Given the description of an element on the screen output the (x, y) to click on. 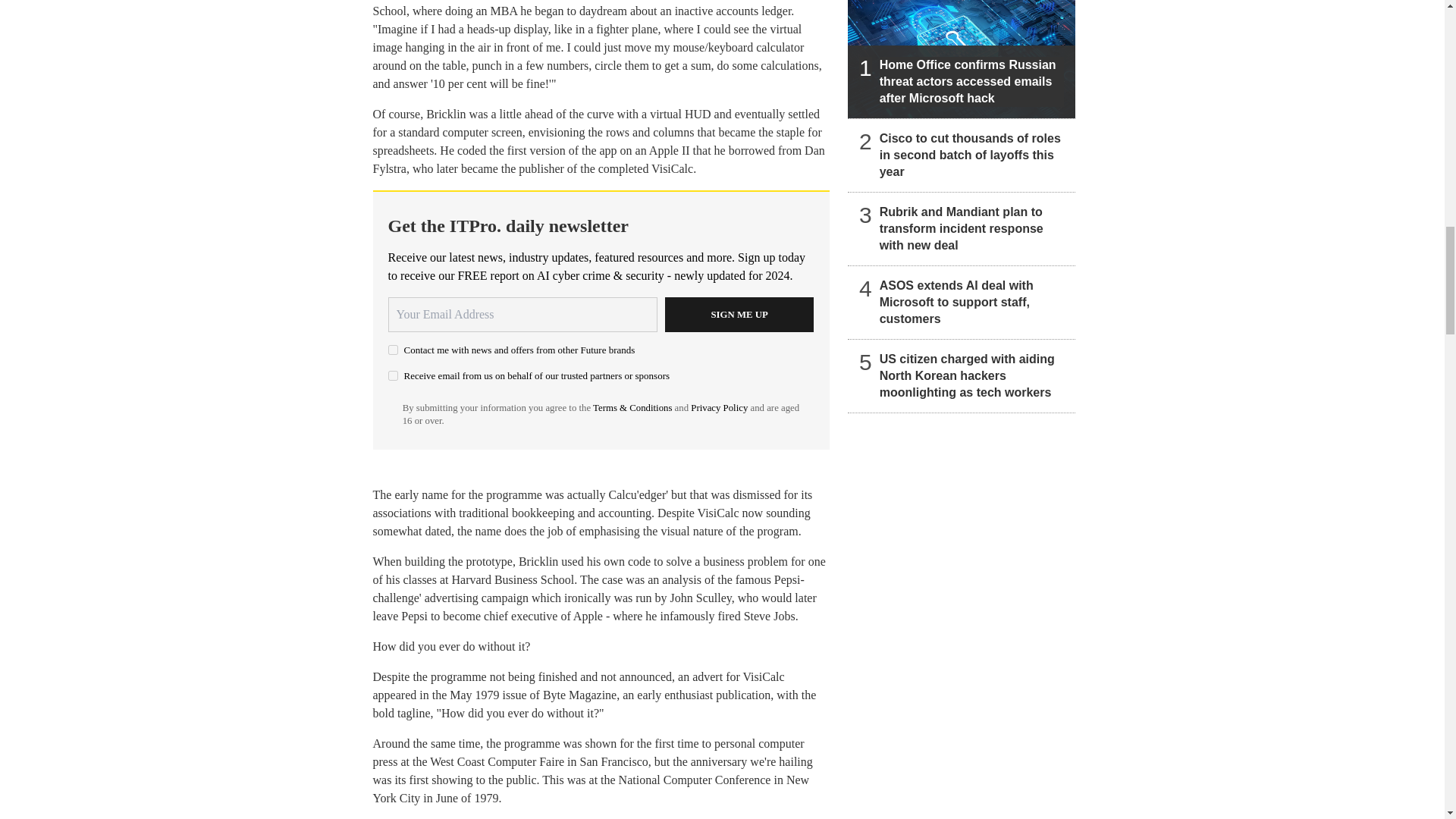
on (392, 349)
Sign me up (739, 314)
on (392, 375)
